Given the description of an element on the screen output the (x, y) to click on. 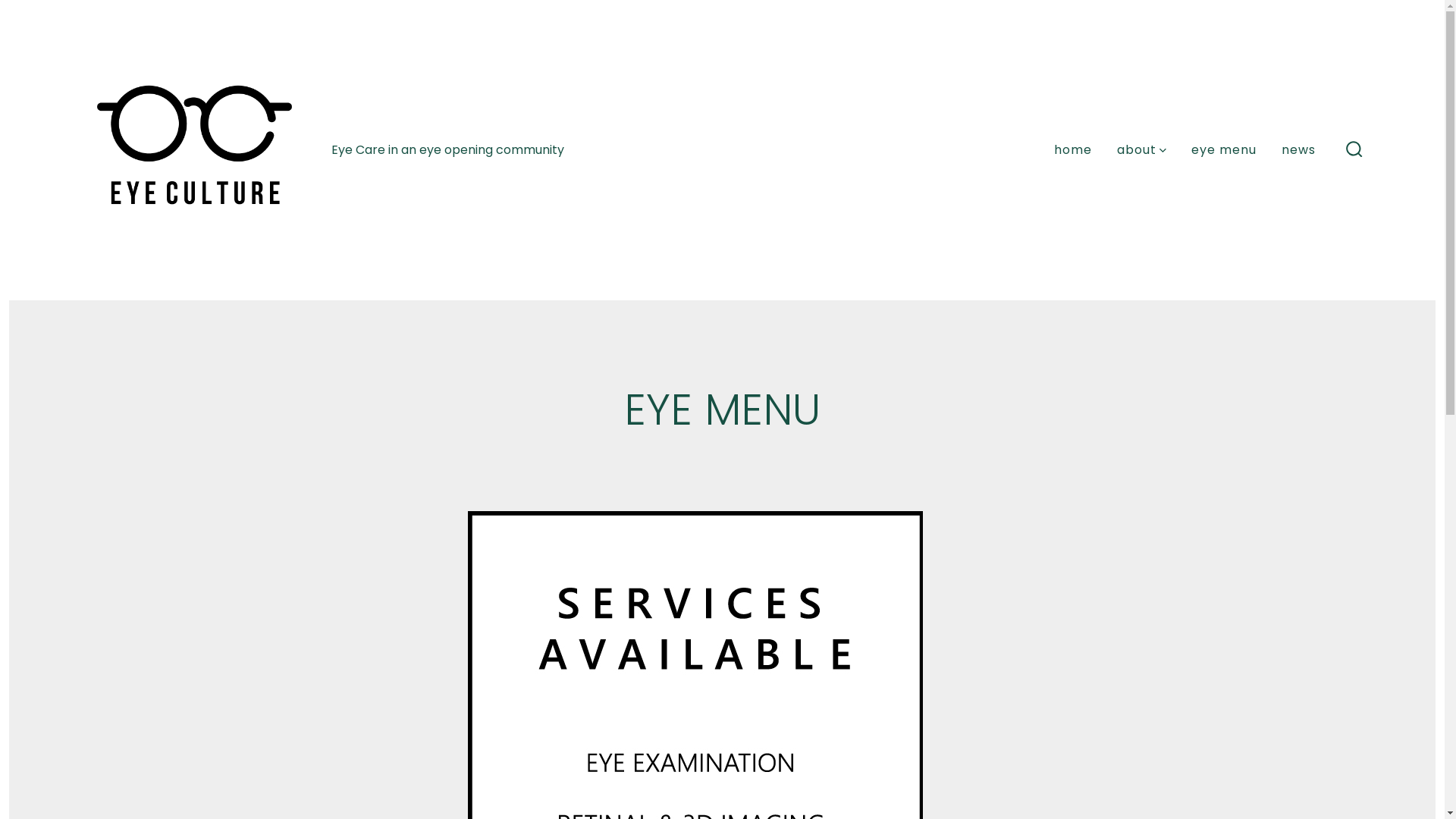
eye menu Element type: text (1223, 150)
news Element type: text (1298, 150)
search toggle Element type: text (1353, 150)
about Element type: text (1141, 150)
home Element type: text (1073, 150)
